Given the description of an element on the screen output the (x, y) to click on. 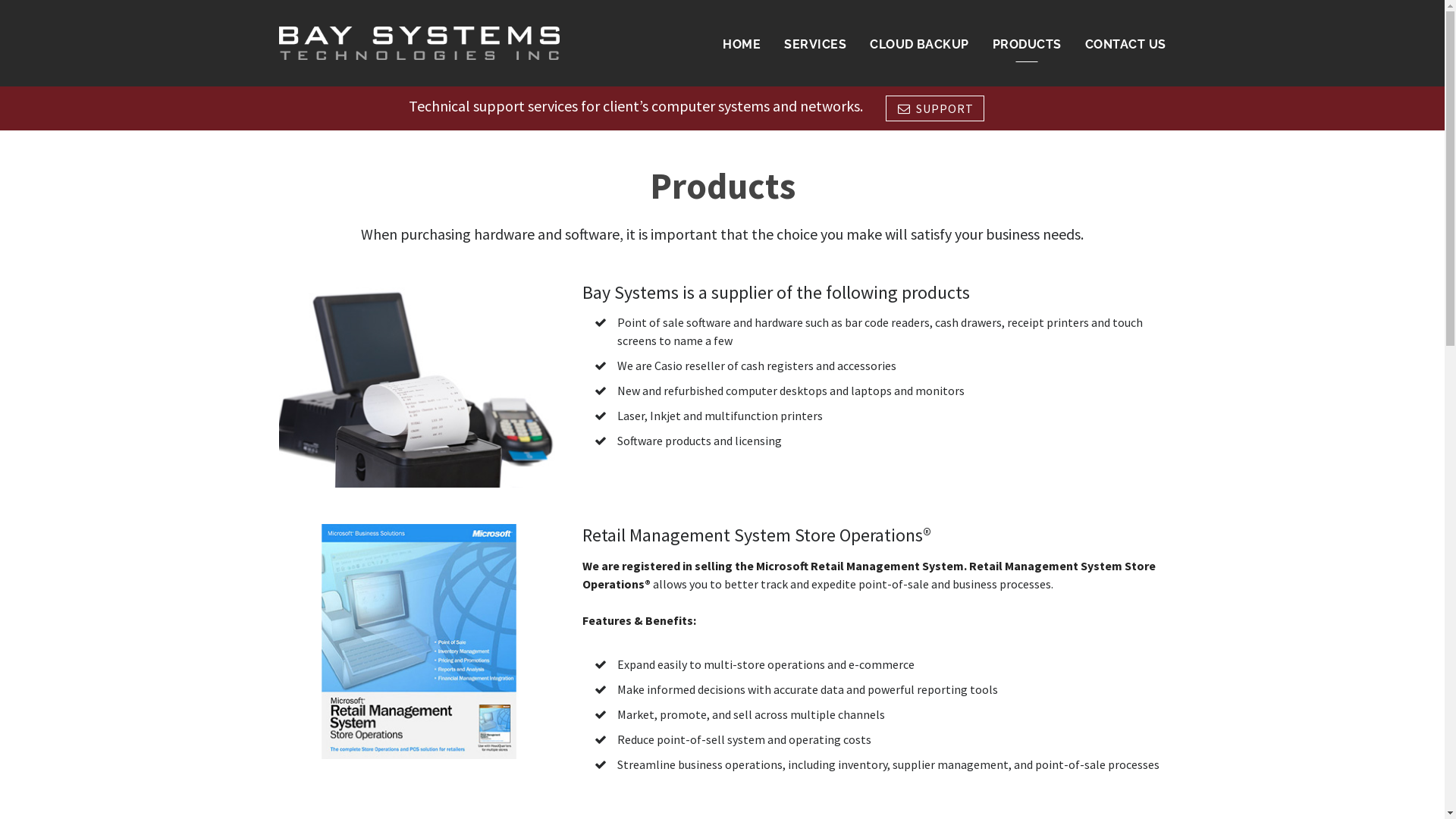
SERVICES Element type: text (815, 44)
PRODUCTS Element type: text (1026, 44)
SUPPORT Element type: text (934, 108)
CONTACT US Element type: text (1125, 44)
CLOUD BACKUP Element type: text (919, 44)
HOME Element type: text (741, 44)
